Given the description of an element on the screen output the (x, y) to click on. 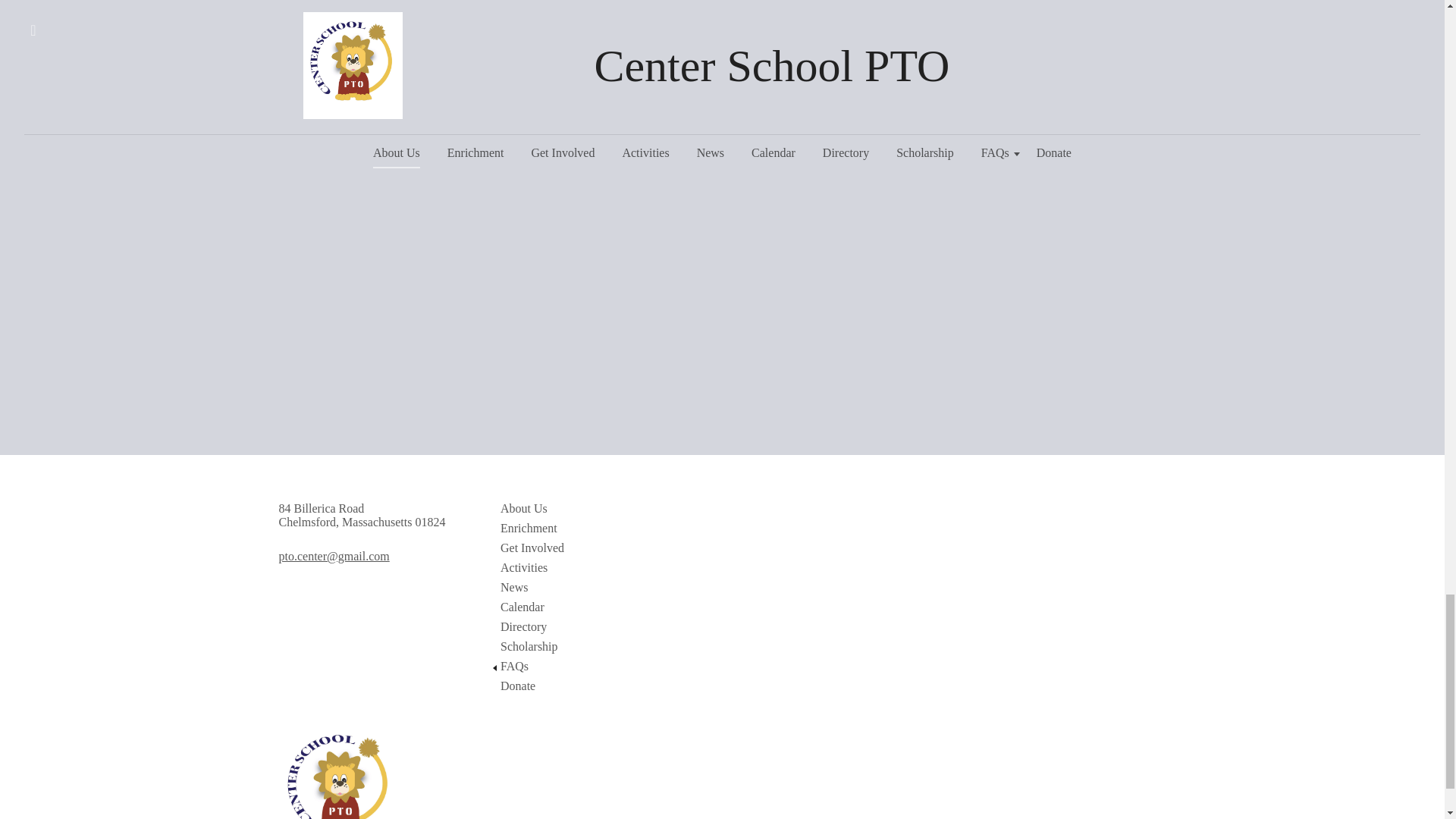
About Us (596, 508)
Enrichment (596, 528)
